Given the description of an element on the screen output the (x, y) to click on. 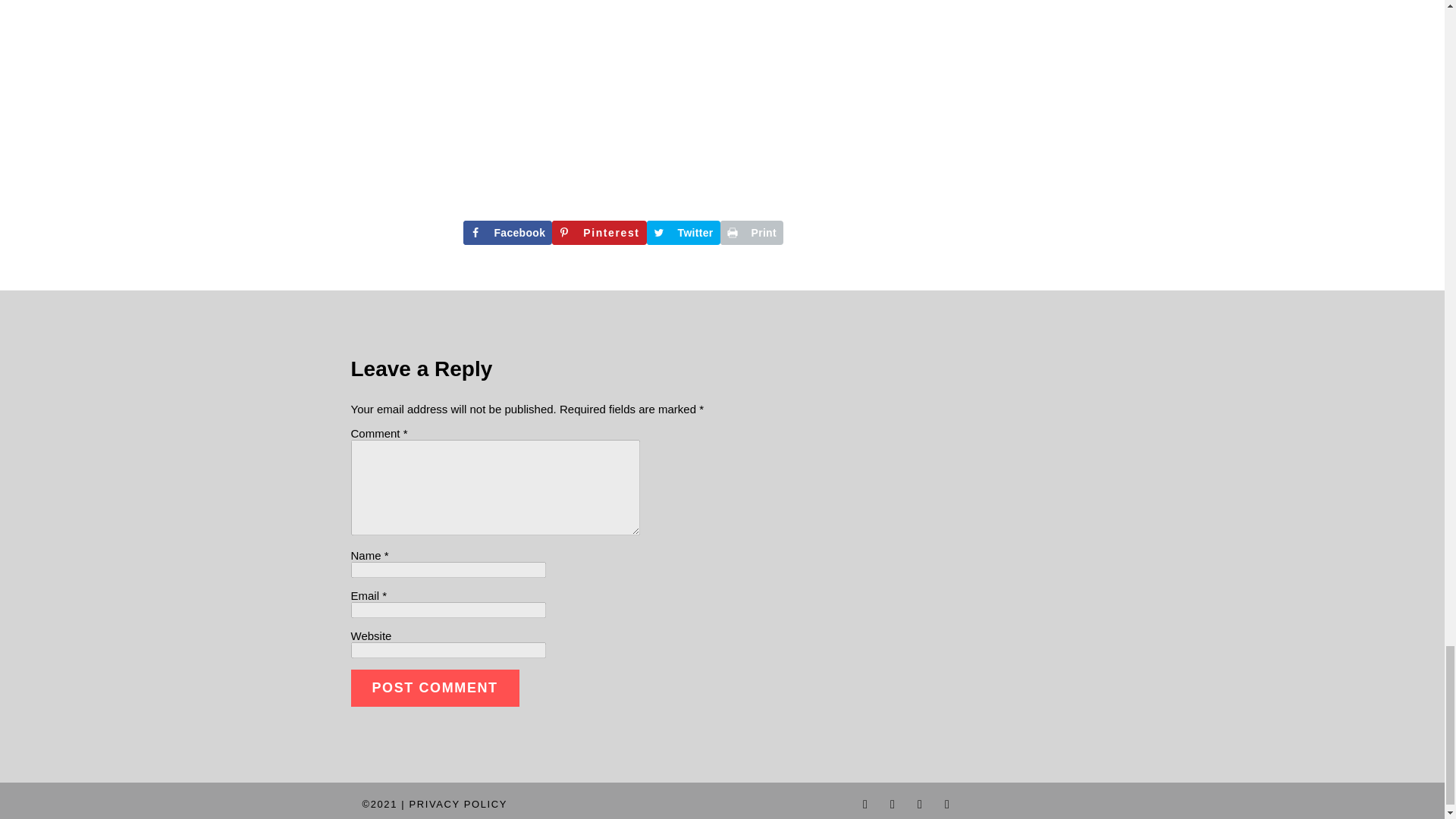
Post Comment (434, 687)
Save to Pinterest (598, 232)
Facebook (507, 232)
Print this webpage (751, 232)
Pinterest (598, 232)
Share on Facebook (507, 232)
Share on Twitter (683, 232)
